Given the description of an element on the screen output the (x, y) to click on. 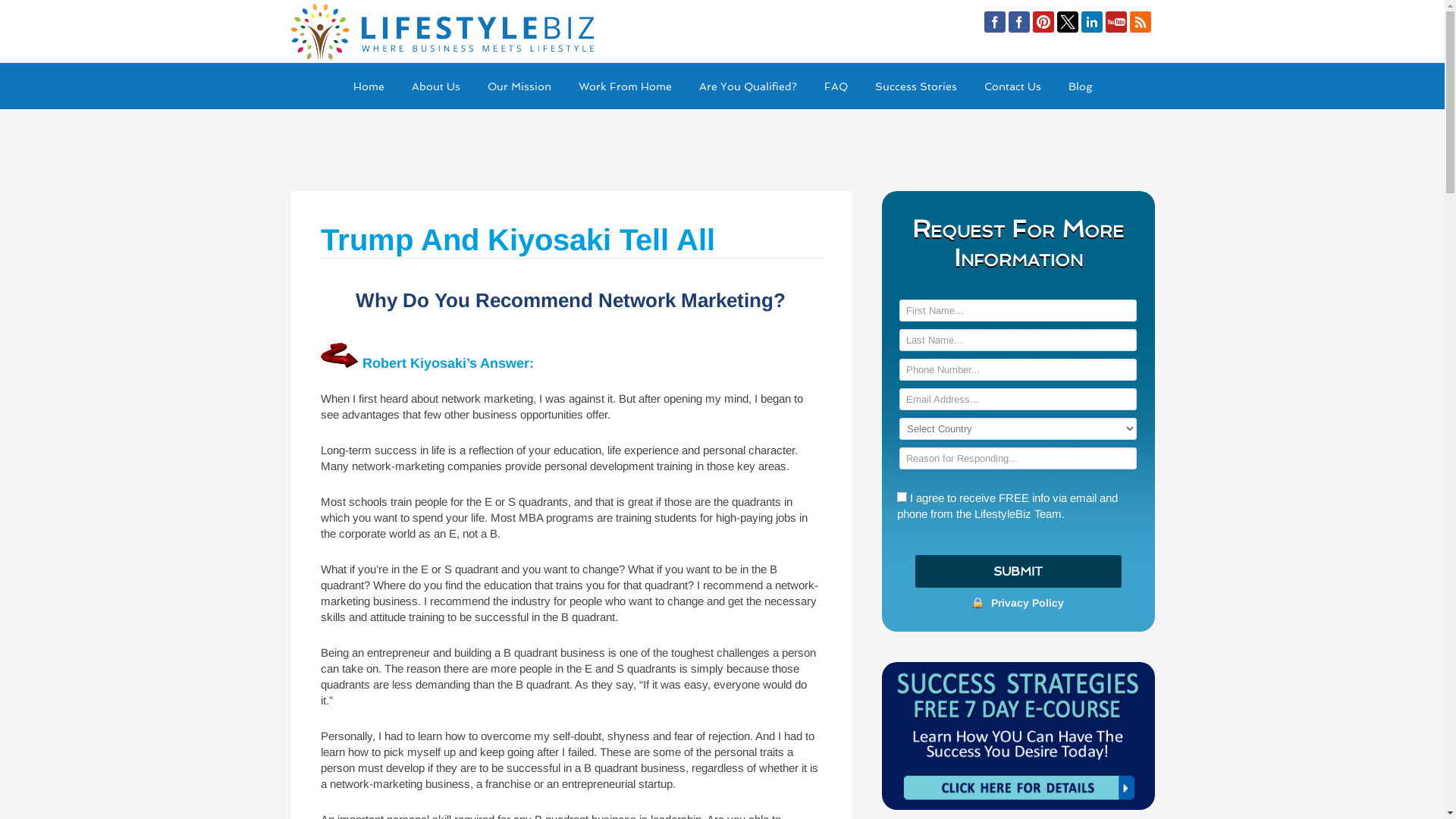
Privacy Policy Element type: text (1027, 602)
Are You Qualified? Element type: text (748, 85)
Facebook Personal Page Element type: hover (994, 21)
RSS Feed Element type: hover (1140, 21)
Pinterest Element type: hover (1043, 21)
Blog Element type: text (1079, 85)
FAQ Element type: text (835, 85)
X Element type: hover (1067, 21)
LinkedIn Element type: hover (1091, 21)
Work From Home Element type: text (624, 85)
Success Stories Element type: text (915, 85)
Contact Us Element type: text (1012, 85)
Facebook Business Page Element type: hover (1018, 21)
Submit Element type: text (1017, 571)
Home Element type: text (368, 85)
YouTube Element type: hover (1115, 21)
About Us Element type: text (434, 85)
Our Mission Element type: text (518, 85)
